Given the description of an element on the screen output the (x, y) to click on. 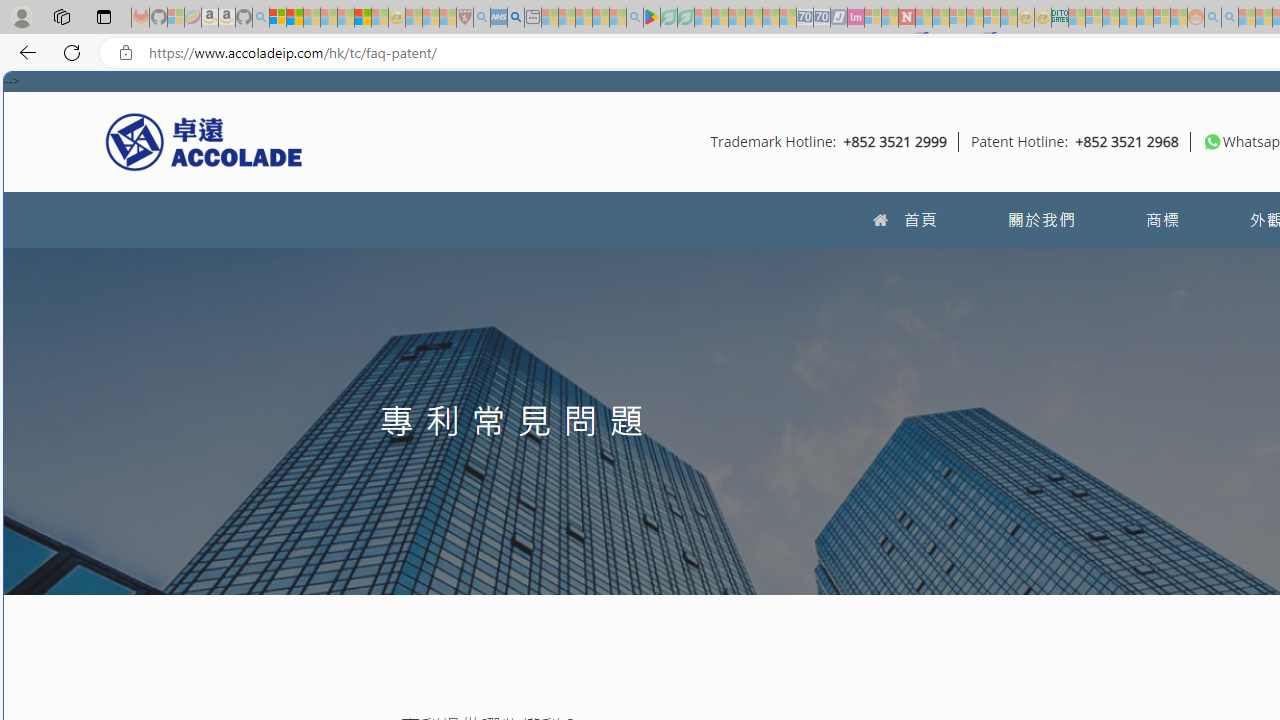
Terms of Use Agreement - Sleeping (668, 17)
Expert Portfolios - Sleeping (1128, 17)
utah sues federal government - Search (515, 17)
